Given the description of an element on the screen output the (x, y) to click on. 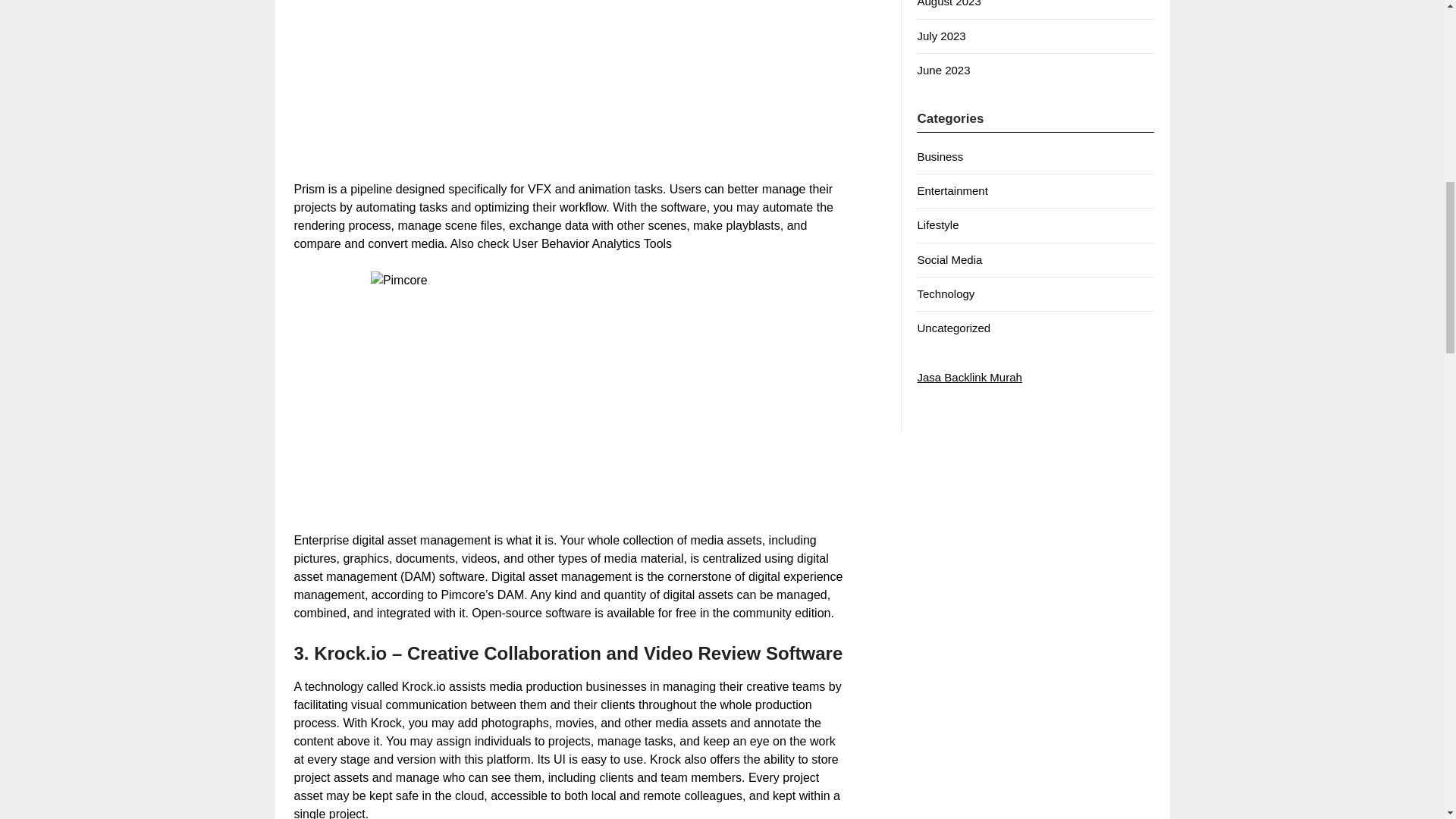
Technology (945, 293)
Business (939, 155)
August 2023 (948, 3)
Social Media (949, 259)
Entertainment (952, 190)
Lifestyle (937, 224)
July 2023 (941, 35)
June 2023 (943, 69)
